Given the description of an element on the screen output the (x, y) to click on. 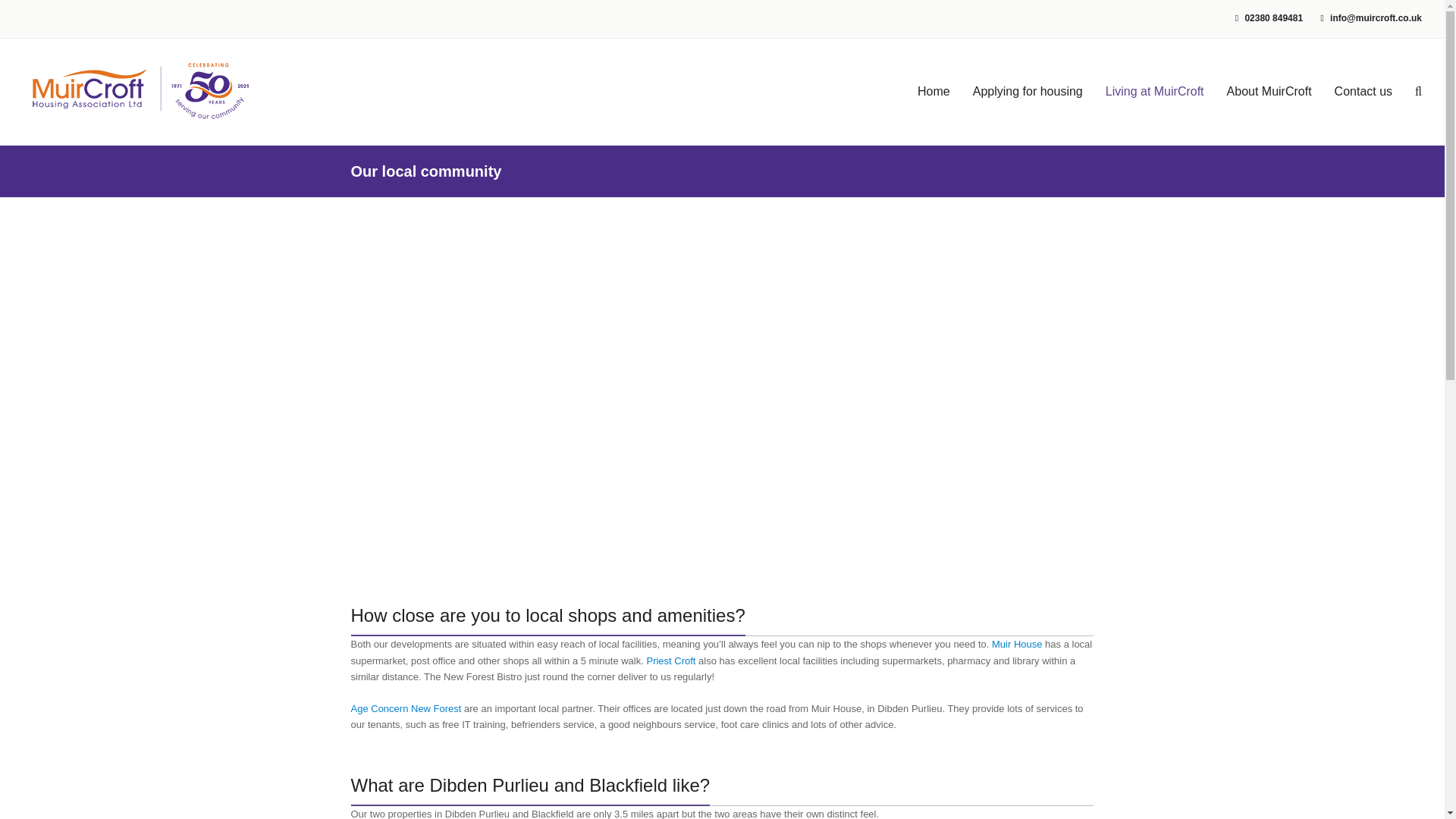
Muir House (1018, 644)
Age Concern New Forest (405, 708)
Living at MuirCroft (1154, 91)
Contact us (1363, 91)
Muircroft Housing Association Ltd (138, 90)
Home (932, 91)
Priest Croft (670, 660)
Applying for housing (1027, 91)
About MuirCroft (1269, 91)
